Given the description of an element on the screen output the (x, y) to click on. 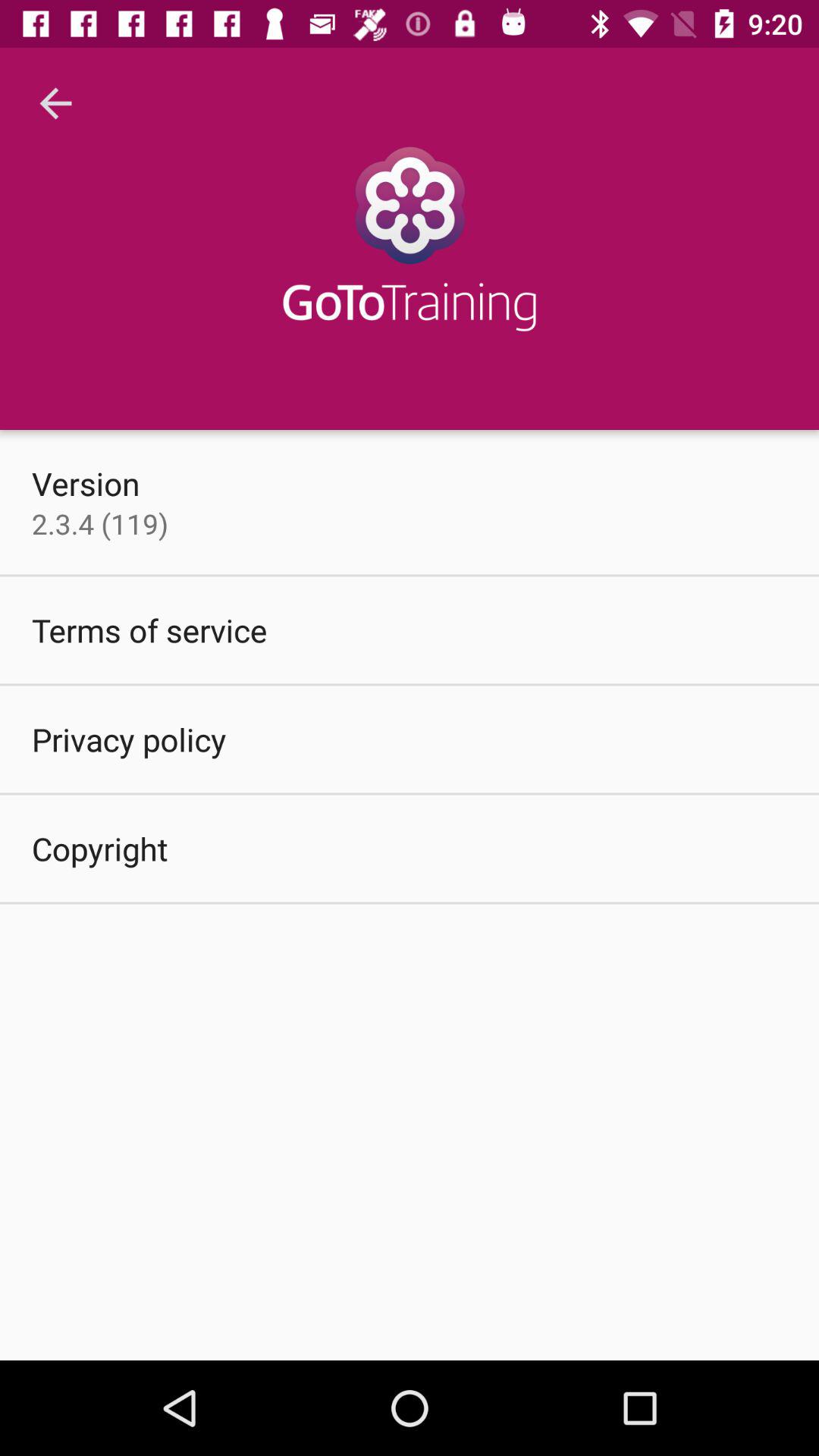
flip until the terms of service (149, 629)
